Given the description of an element on the screen output the (x, y) to click on. 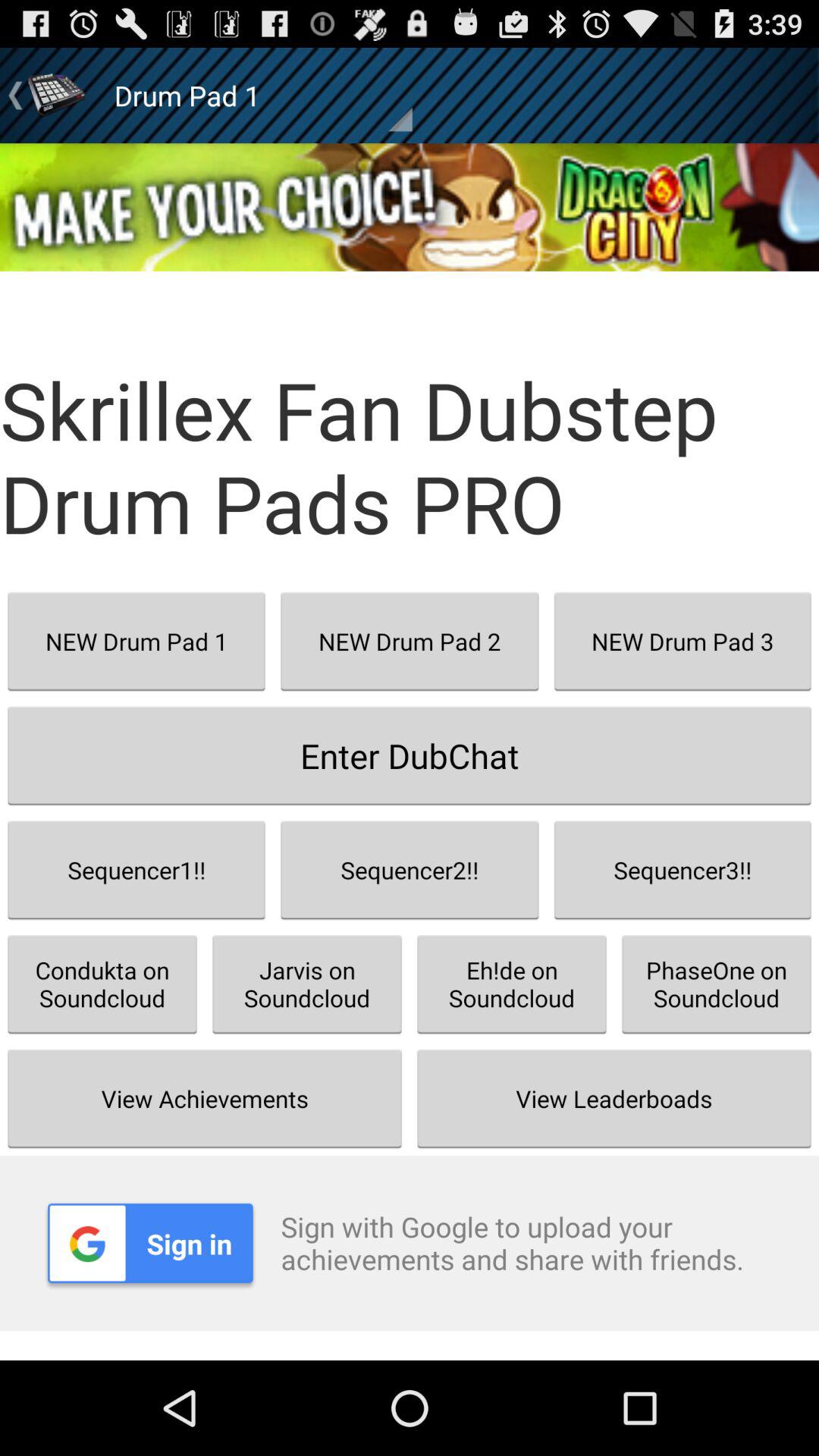
click item next to the jarvis on soundcloud button (614, 1098)
